Given the description of an element on the screen output the (x, y) to click on. 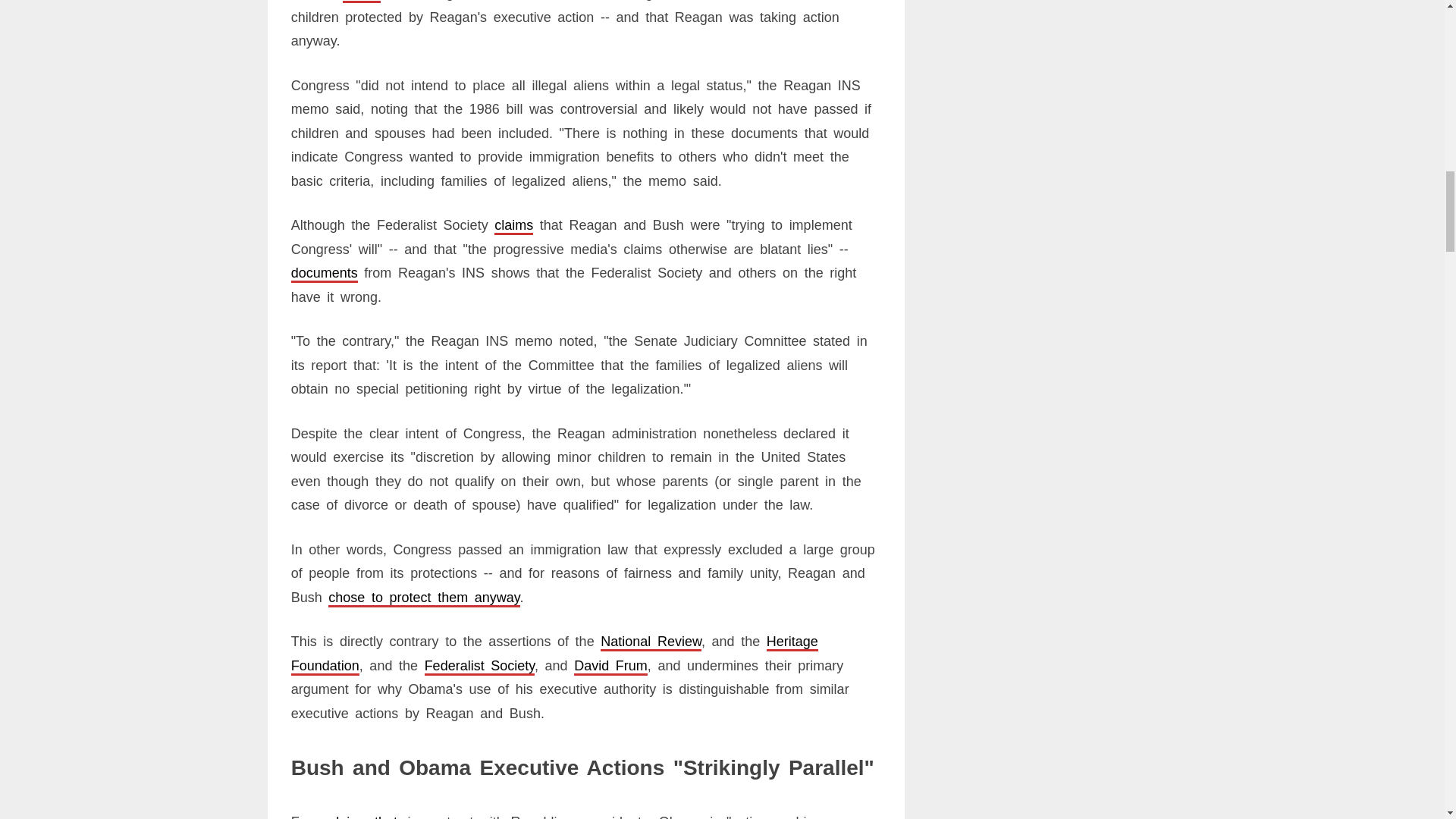
Heritage Foundation (554, 653)
Federalist Society (479, 665)
chose to protect them anyway (424, 597)
documents (324, 272)
National Review (650, 641)
David Frum (610, 665)
claims (513, 224)
claims that (363, 816)
